Given the description of an element on the screen output the (x, y) to click on. 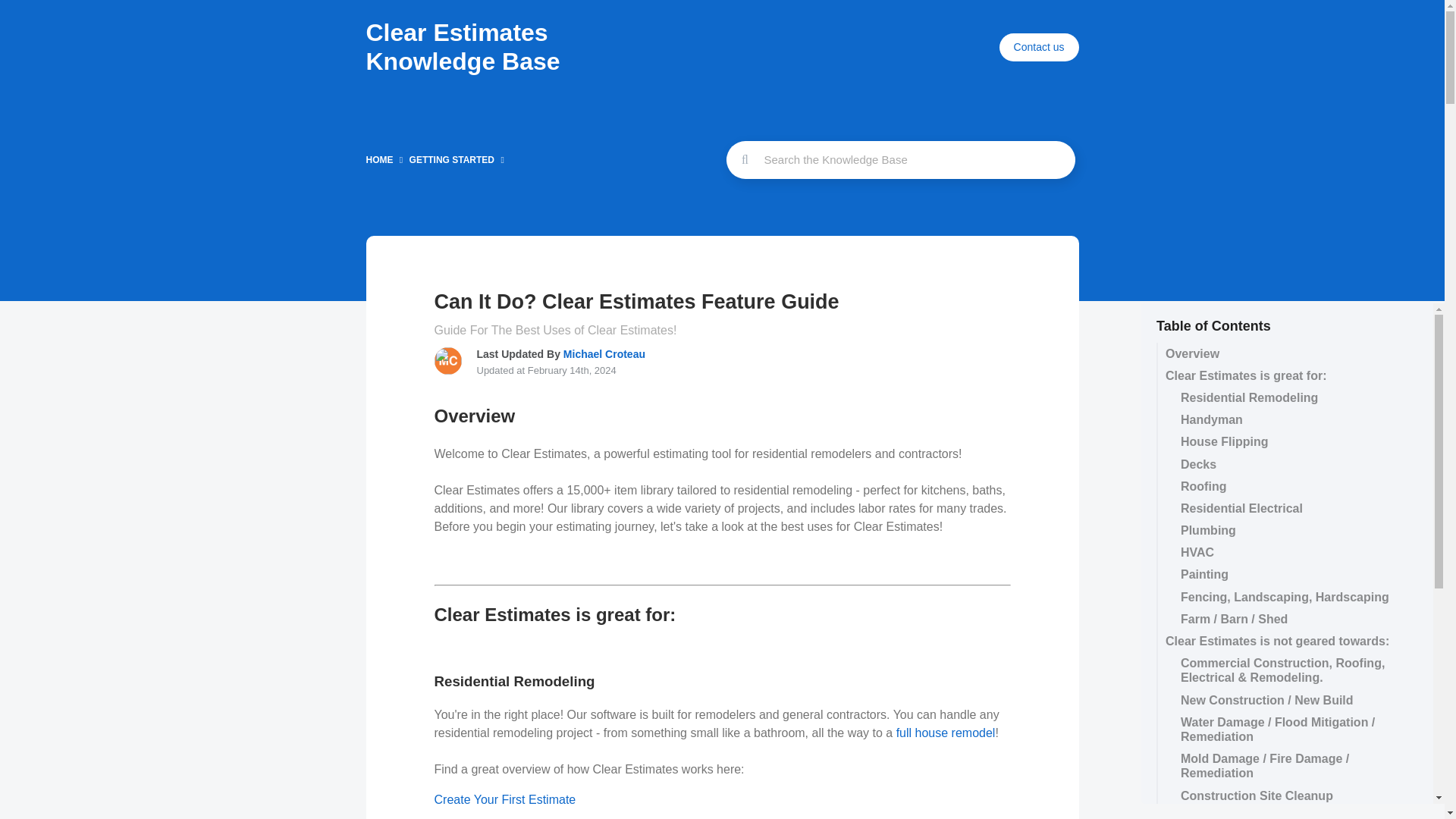
Construction Site Cleanup (1283, 795)
House Flipping (1283, 441)
Painting (1283, 574)
Fencing, Landscaping, Hardscaping  (1283, 597)
HOME (379, 159)
Handyman (1283, 419)
Decks (1283, 464)
Clear Estimates Knowledge Base (462, 46)
HVAC (1283, 552)
Residential Remodeling (1283, 397)
